Given the description of an element on the screen output the (x, y) to click on. 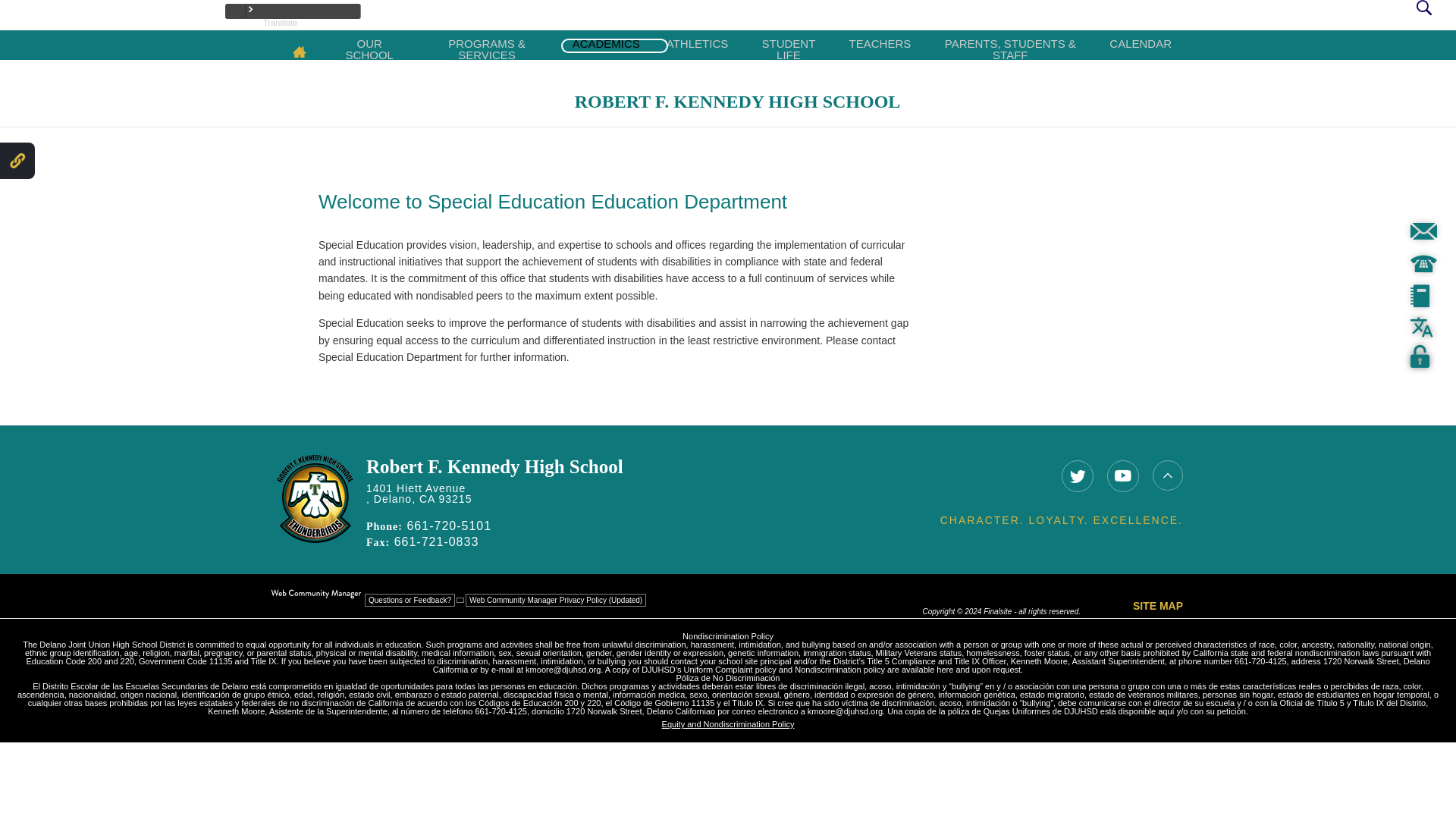
District Home (67, 15)
Finalsite - all rights reserved (315, 594)
Return to the homepage on the district site. (67, 15)
Click to email the primary contact (409, 599)
OUR SCHOOL (369, 44)
